Given the description of an element on the screen output the (x, y) to click on. 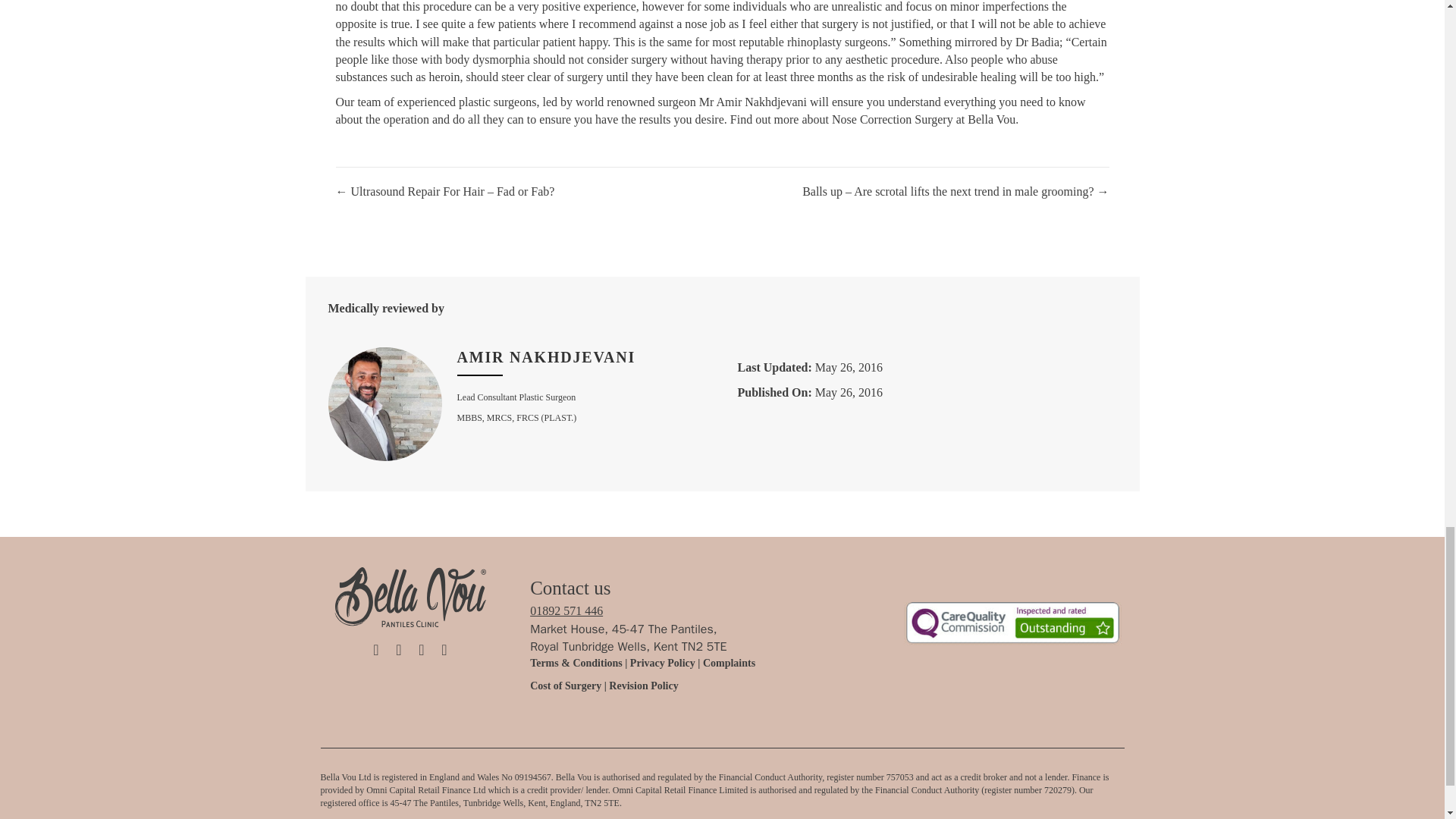
BellaVou Treatment (1011, 623)
Amir Nakhdjevani (545, 356)
YouTube (443, 649)
Instagram (398, 649)
TikTok (376, 649)
Facebook (421, 649)
